Given the description of an element on the screen output the (x, y) to click on. 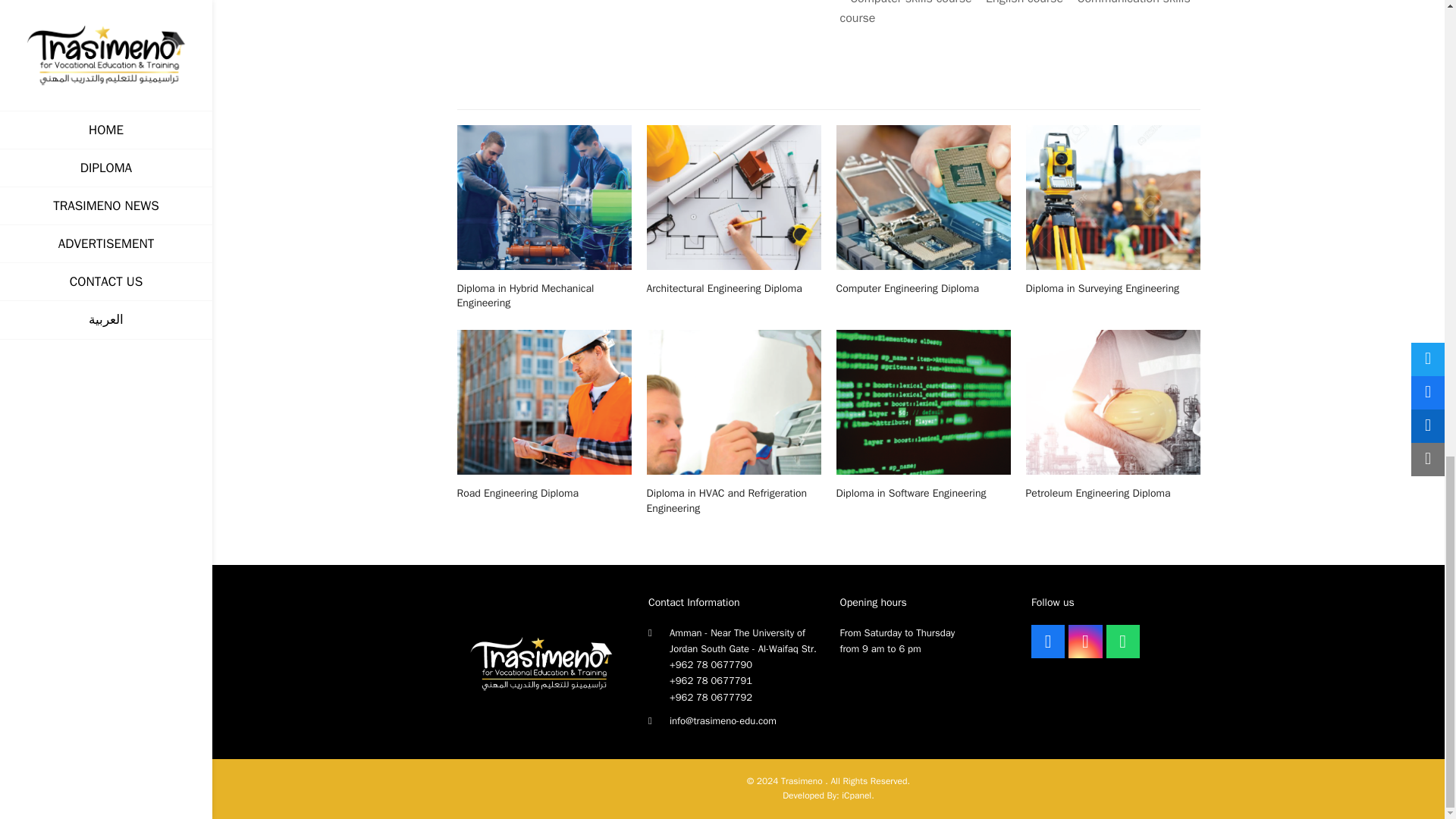
Computer Engineering Diploma (922, 196)
Petroleum Engineering Diploma (1097, 492)
Diploma in Surveying Engineering (1112, 196)
Diploma in Software Engineering (910, 492)
Road Engineering Diploma (543, 400)
Architectural Engineering Diploma (733, 196)
Computer Engineering Diploma (906, 287)
Petroleum Engineering Diploma (1112, 400)
Instagram (1085, 641)
Architectural Engineering Diploma (724, 287)
Diploma in Software Engineering (922, 400)
Diploma in Surveying Engineering (1101, 287)
Whatsapp (1123, 641)
Diploma in HVAC and Refrigeration Engineering (726, 500)
Facebook (1047, 641)
